Given the description of an element on the screen output the (x, y) to click on. 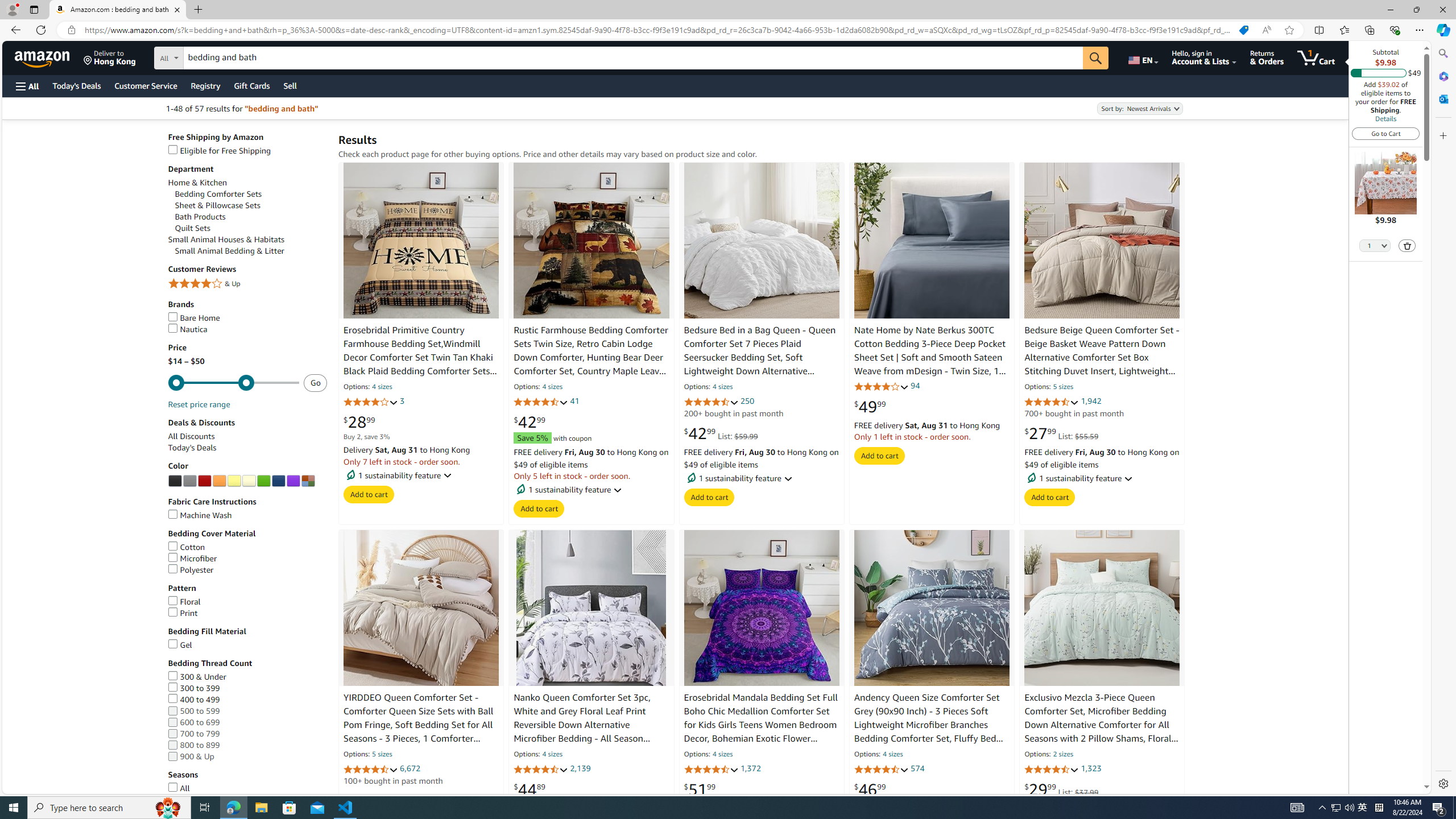
Deliver to Hong Kong (109, 57)
Go back to filtering menu (48, 788)
Reset price range (198, 404)
Search in (210, 56)
Minimum (233, 382)
Amazon (43, 57)
Machine Wash (247, 515)
Grey (189, 481)
$42.99 List: $59.99 (721, 433)
Eligible for Free Shipping (247, 150)
250 (746, 401)
